Given the description of an element on the screen output the (x, y) to click on. 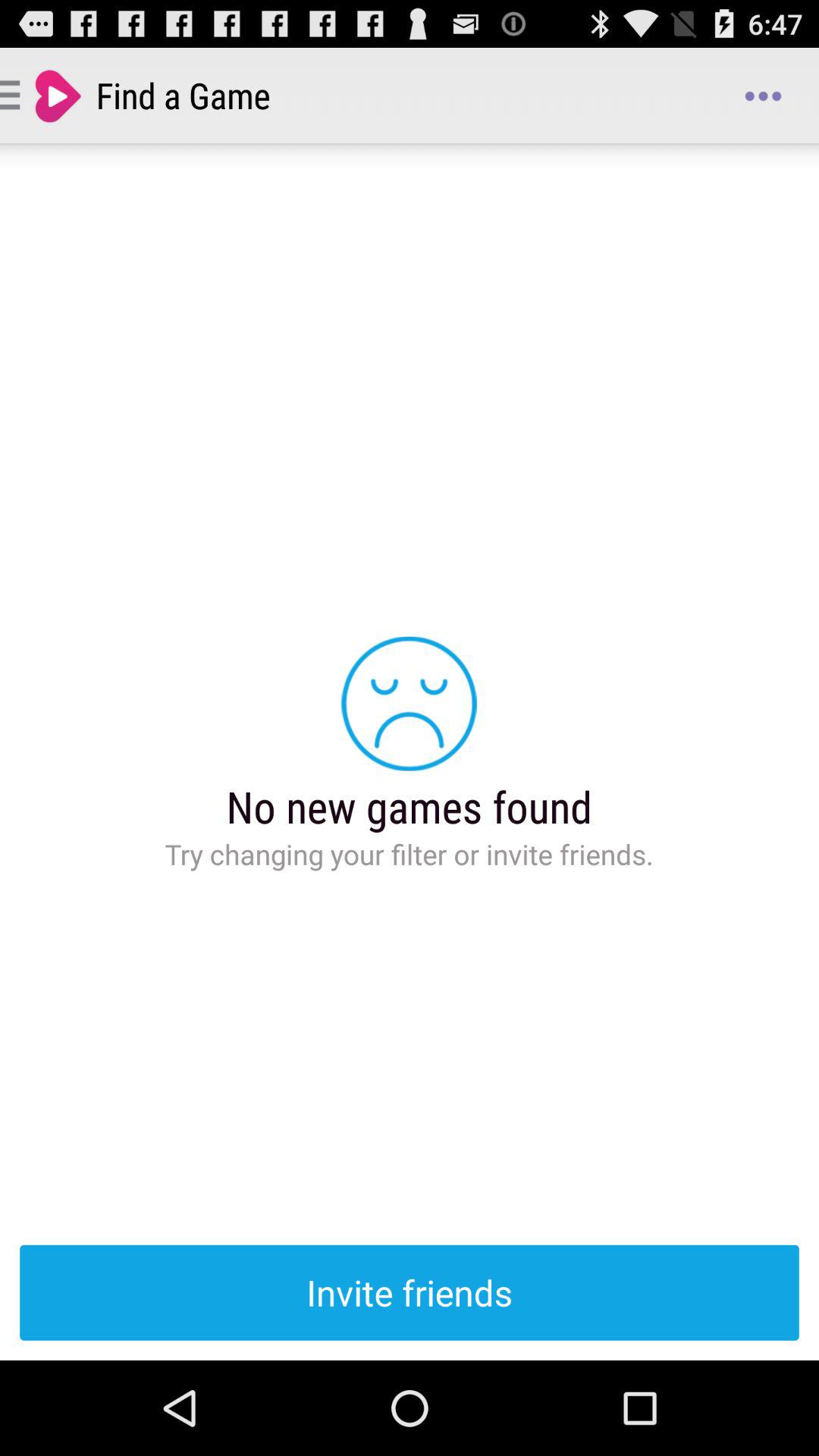
open icon next to the find a game app (763, 95)
